Given the description of an element on the screen output the (x, y) to click on. 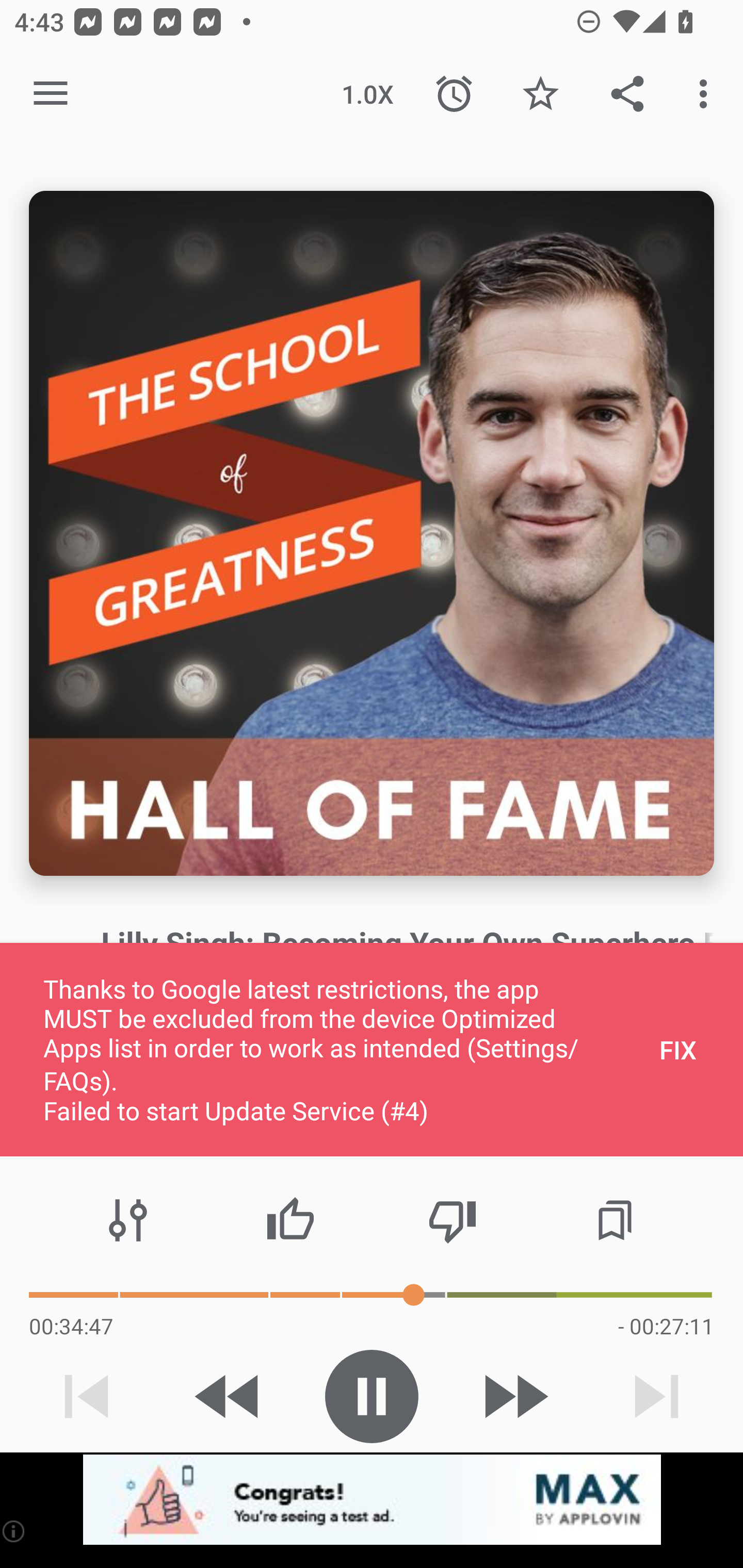
Open navigation sidebar (50, 93)
1.0X (366, 93)
Sleep Timer (453, 93)
Favorite (540, 93)
Share (626, 93)
More options (706, 93)
Episode description (371, 533)
FIX (677, 1049)
Audio effects (127, 1220)
Thumbs up (290, 1220)
Thumbs down (452, 1220)
Chapters / Bookmarks (614, 1220)
- 00:27:11 (666, 1325)
Previous track (86, 1395)
Skip 15s backward (228, 1395)
Play / Pause (371, 1395)
Skip 30s forward (513, 1395)
Next track (656, 1395)
app-monetization (371, 1500)
(i) (14, 1531)
